Given the description of an element on the screen output the (x, y) to click on. 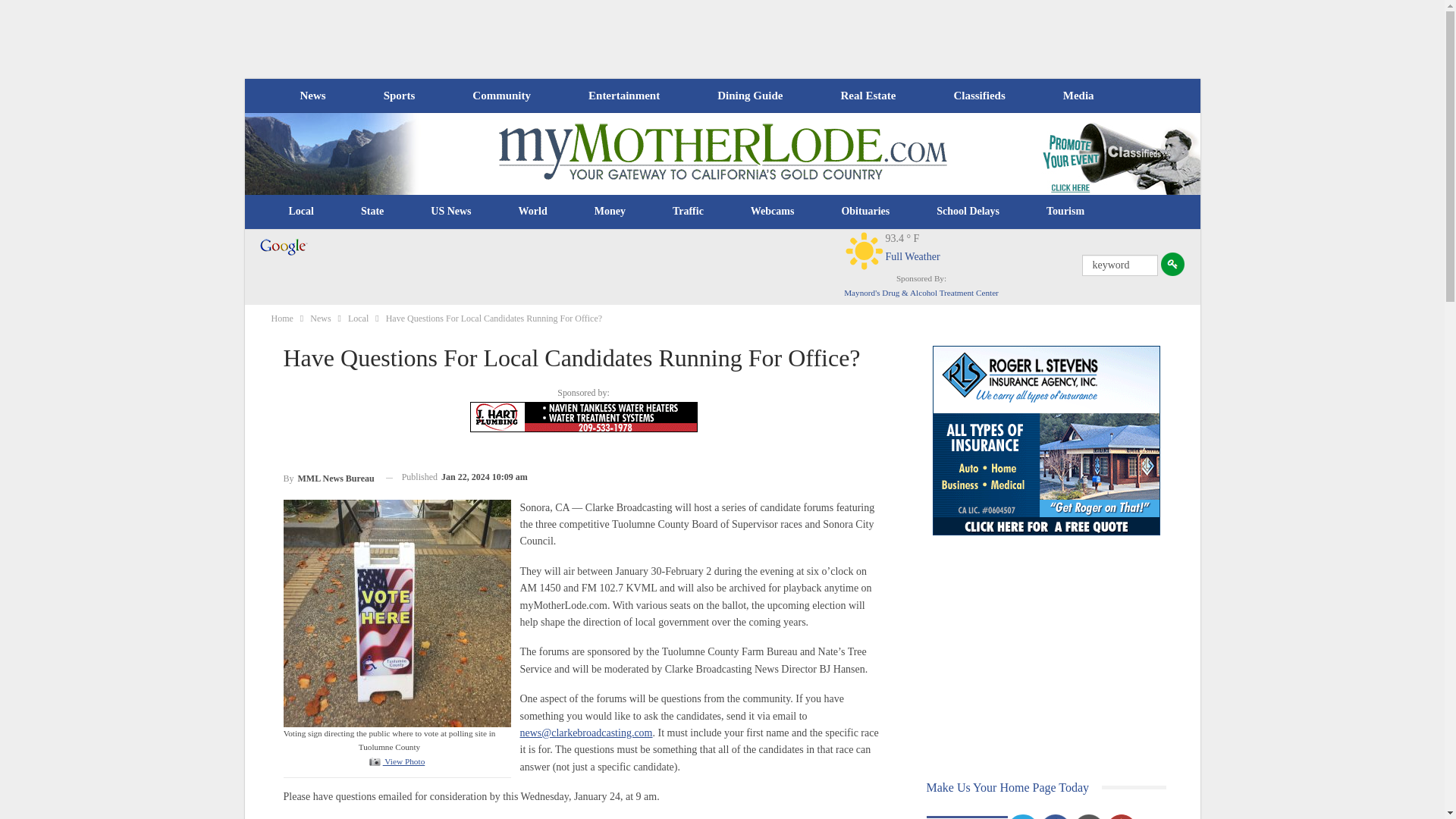
J Hart Plumbing (583, 417)
News (312, 95)
Clear (864, 250)
Classifieds (979, 95)
Dining Guide (749, 95)
Obituaries (865, 211)
Sports (399, 95)
Entertainment (624, 95)
keyword (1119, 265)
Local (300, 211)
Submit (1172, 264)
Roger L. Stevens Insurance (1046, 440)
Webcams (772, 211)
Photo taken by: Tracey Petersen (397, 612)
